Given the description of an element on the screen output the (x, y) to click on. 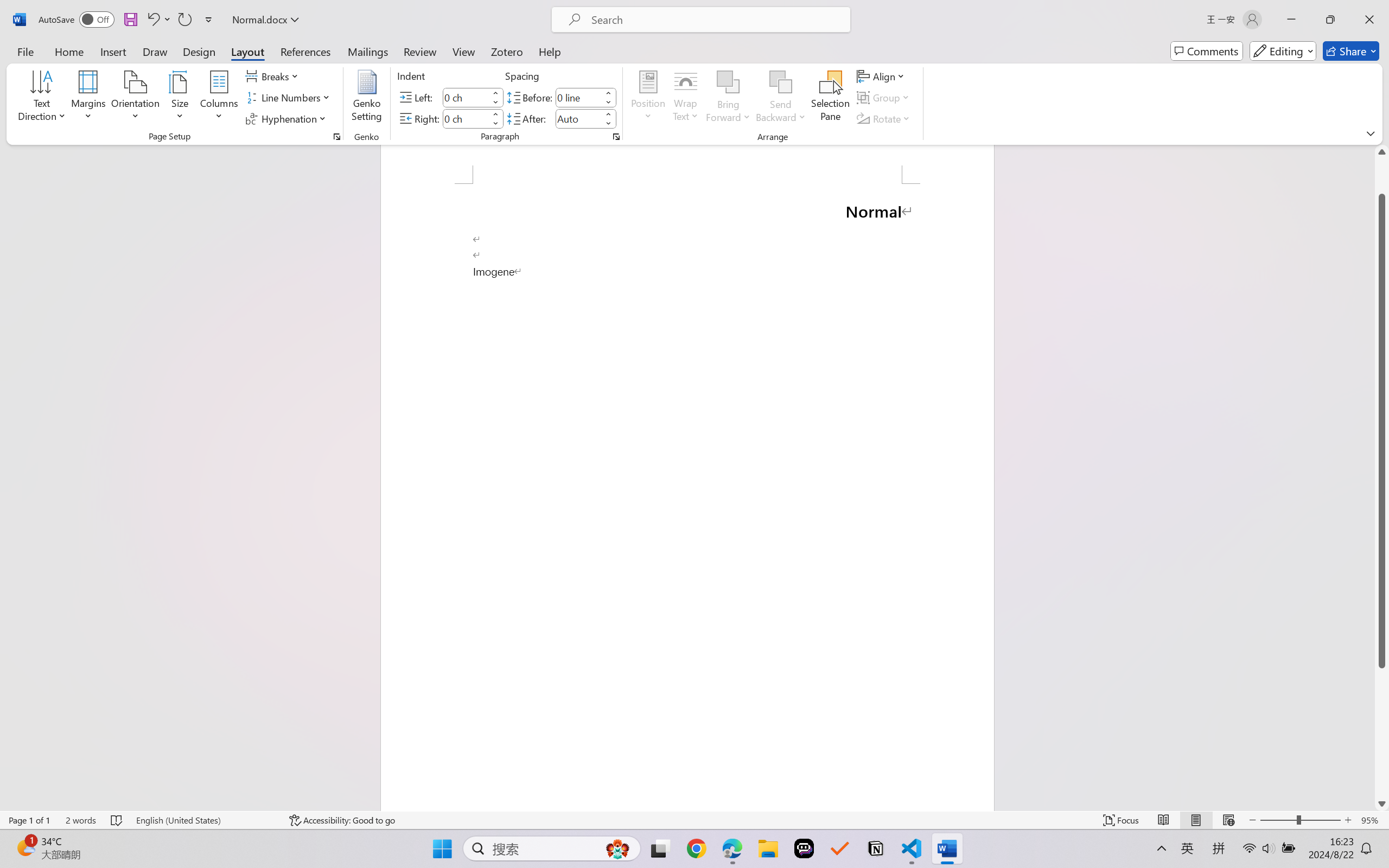
Line Numbers (289, 97)
Help (549, 51)
Selection Pane... (830, 97)
Bring Forward (728, 97)
